Given the description of an element on the screen output the (x, y) to click on. 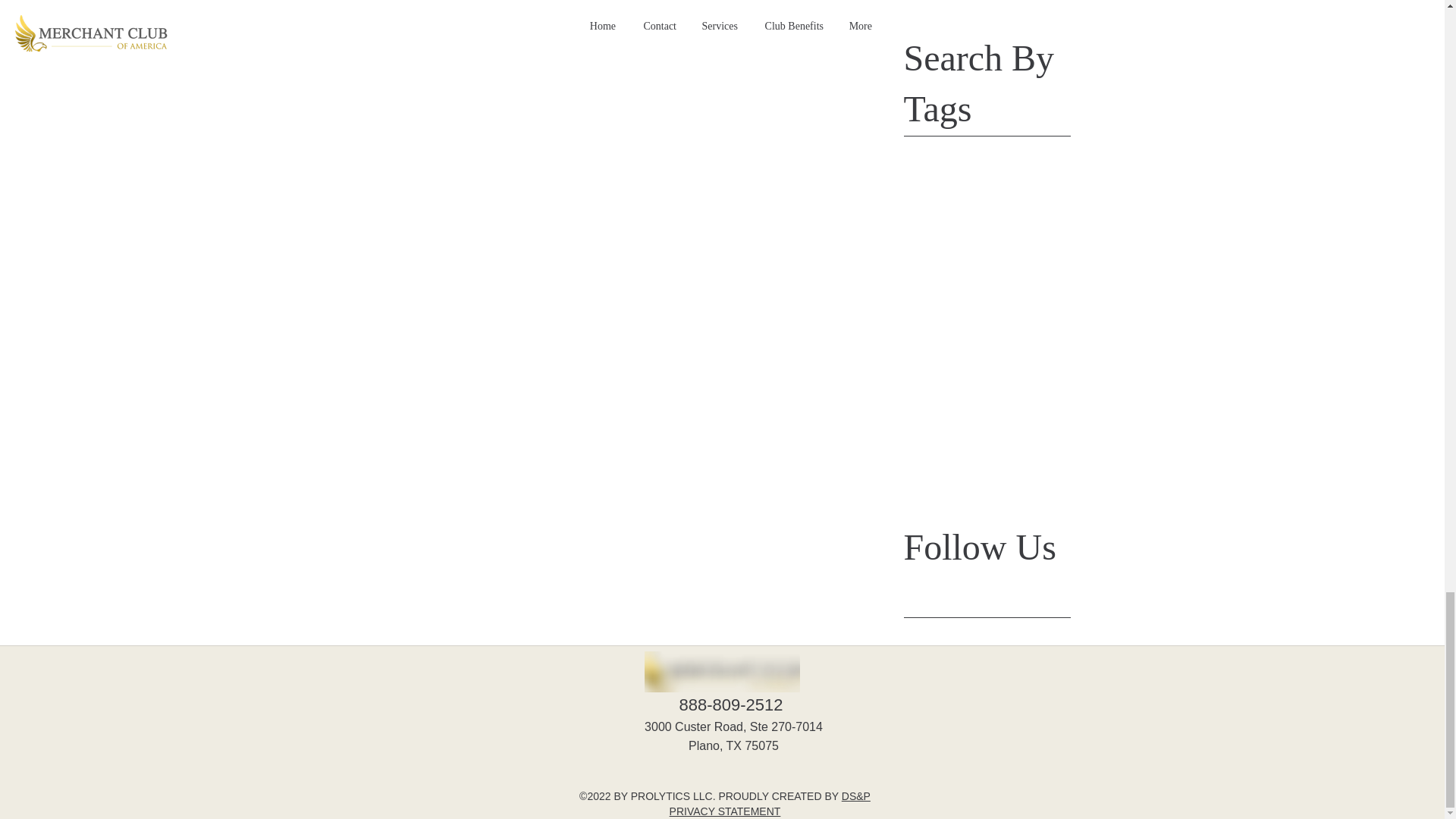
PRIVACY STATEMENT (724, 811)
